Given the description of an element on the screen output the (x, y) to click on. 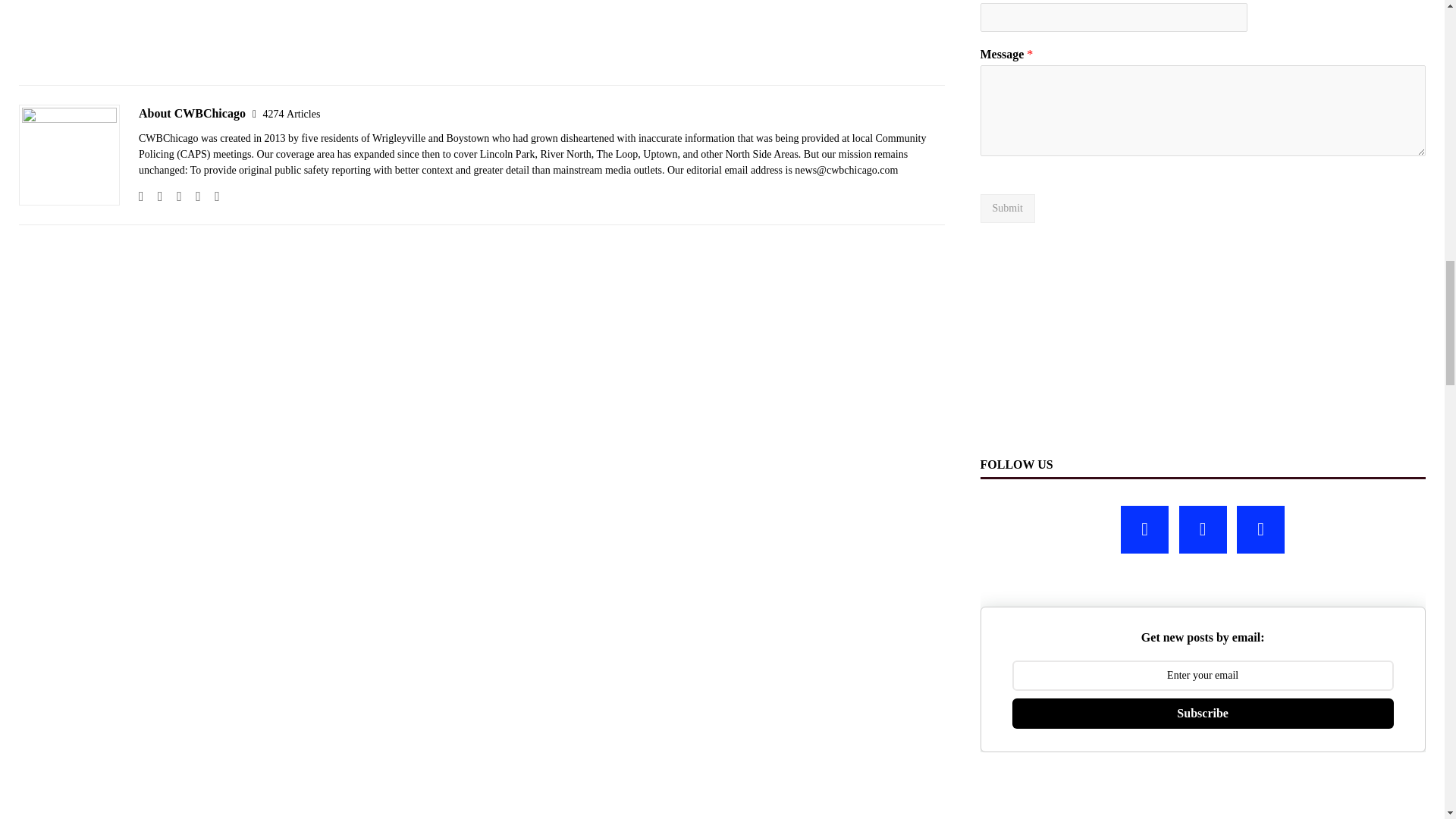
Follow CWBChicago on Instagram (173, 196)
Follow CWBChicago on Twitter (192, 196)
More articles written by CWBChicago' (291, 113)
4274 Articles (291, 113)
Subscribe (1202, 713)
Follow CWBChicago on YouTube (211, 196)
Submit (1007, 208)
Follow CWBChicago on Facebook (155, 196)
